Given the description of an element on the screen output the (x, y) to click on. 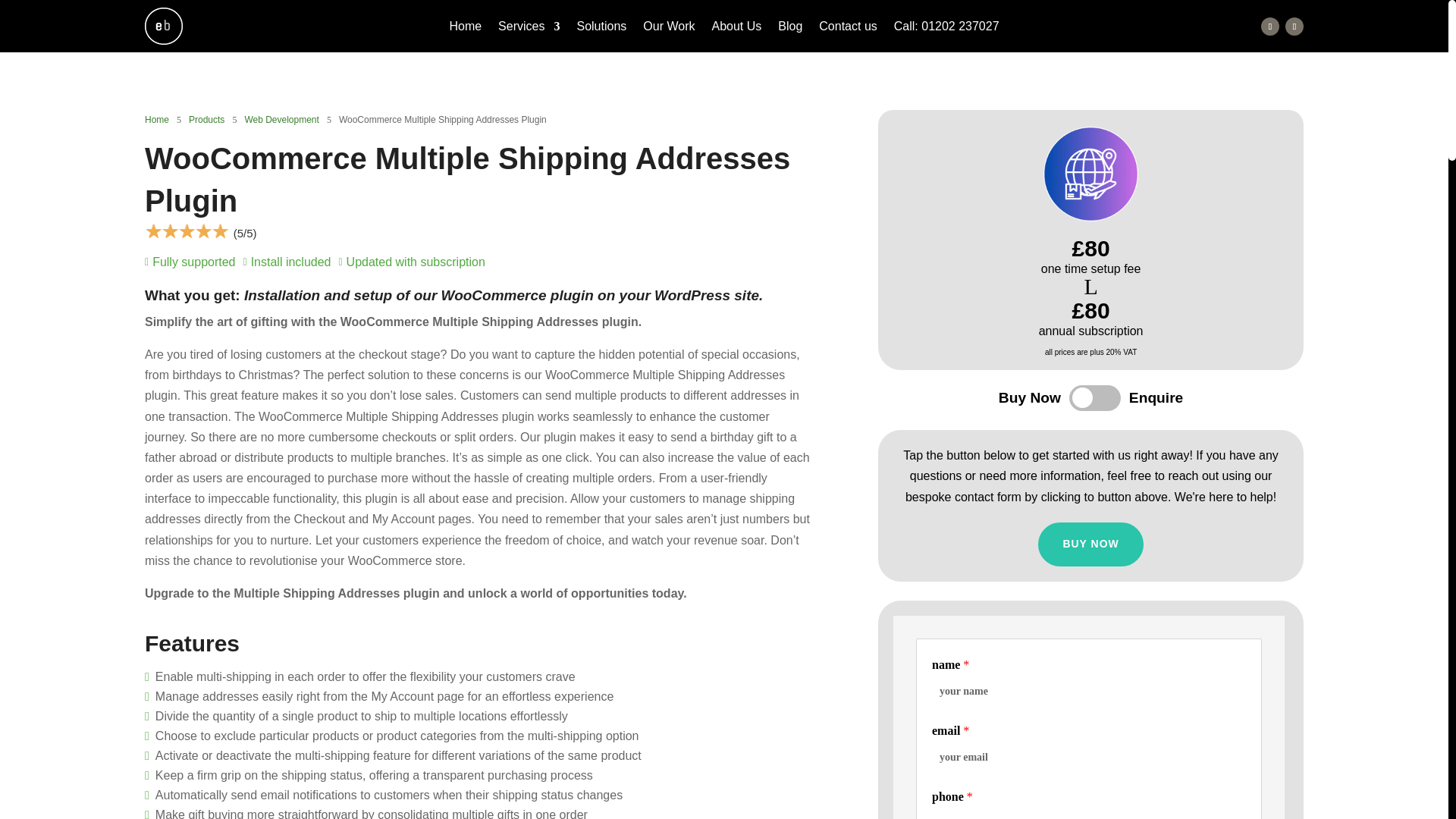
Follow on Facebook (1269, 26)
About Us (736, 28)
Blog (789, 28)
Products (206, 119)
Follow on Instagram (1294, 26)
Web Development (281, 119)
Services (528, 28)
BUY NOW (1090, 544)
Contact us (847, 28)
banner eb logo (163, 26)
Home (156, 119)
Home (464, 28)
Our Work (668, 28)
Follow (1269, 26)
Follow (1294, 26)
